Given the description of an element on the screen output the (x, y) to click on. 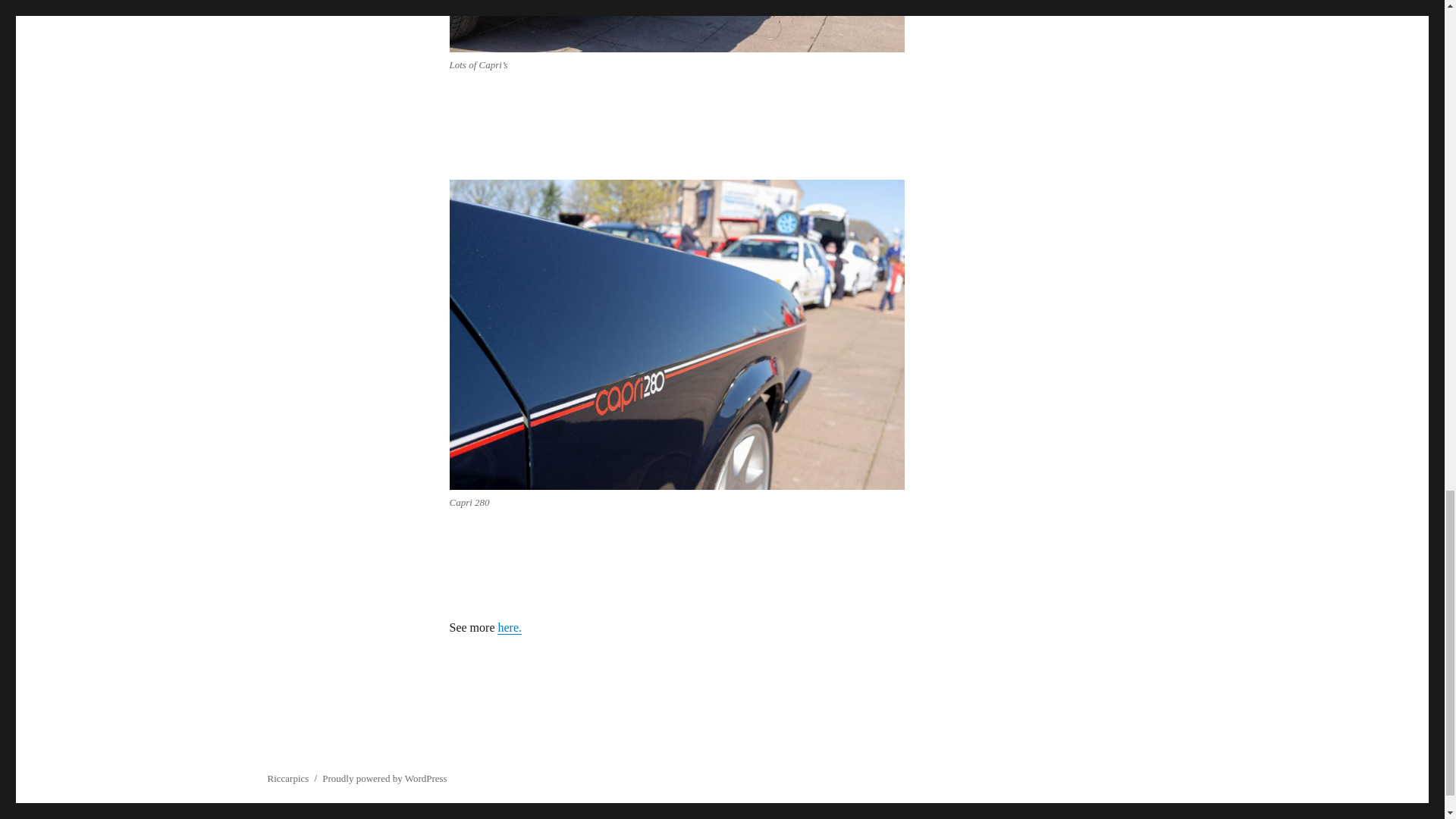
Riccarpics (287, 778)
here. (509, 626)
Proudly powered by WordPress (383, 778)
